Given the description of an element on the screen output the (x, y) to click on. 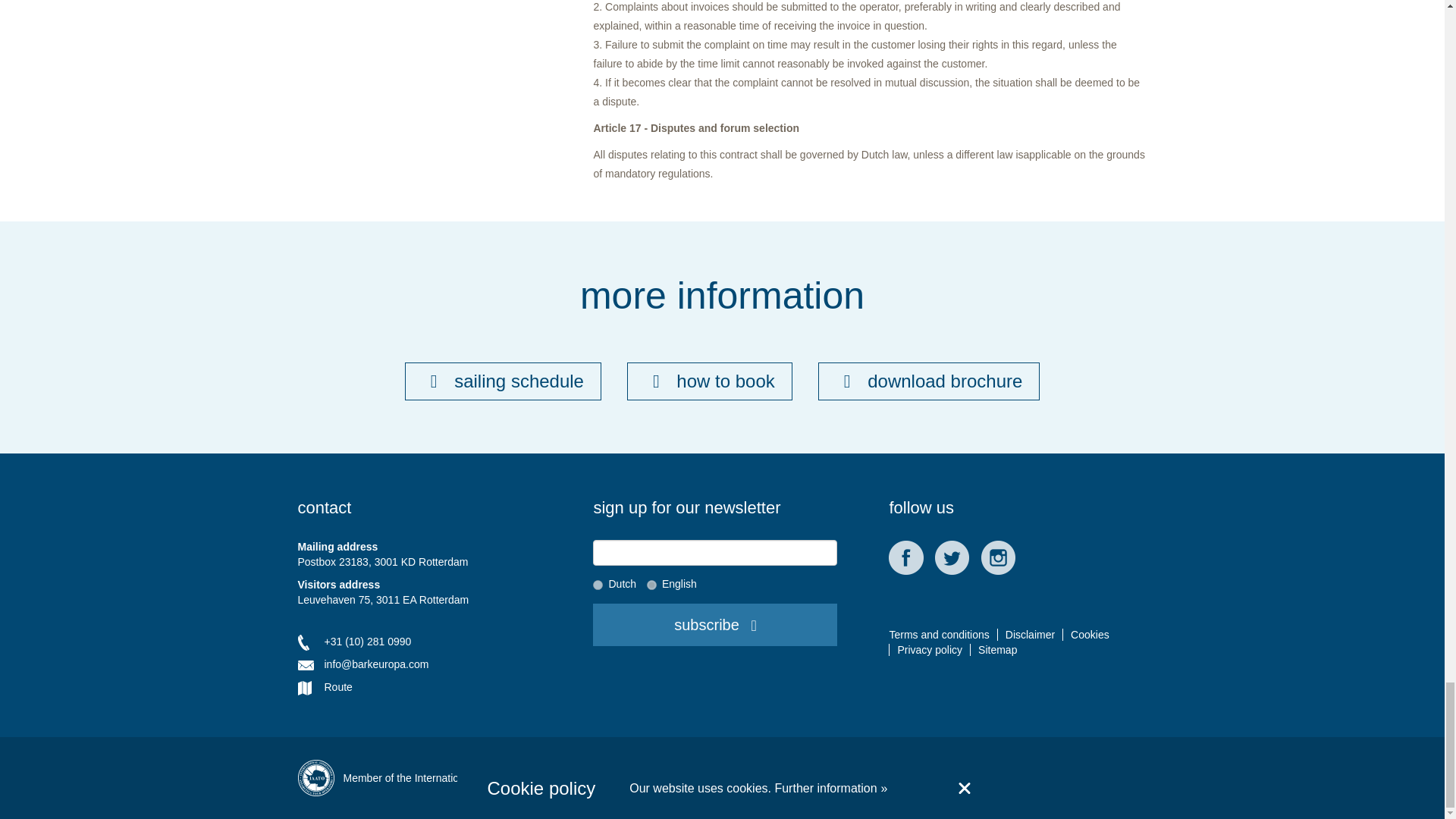
English (651, 584)
Nederlands (597, 584)
